Given the description of an element on the screen output the (x, y) to click on. 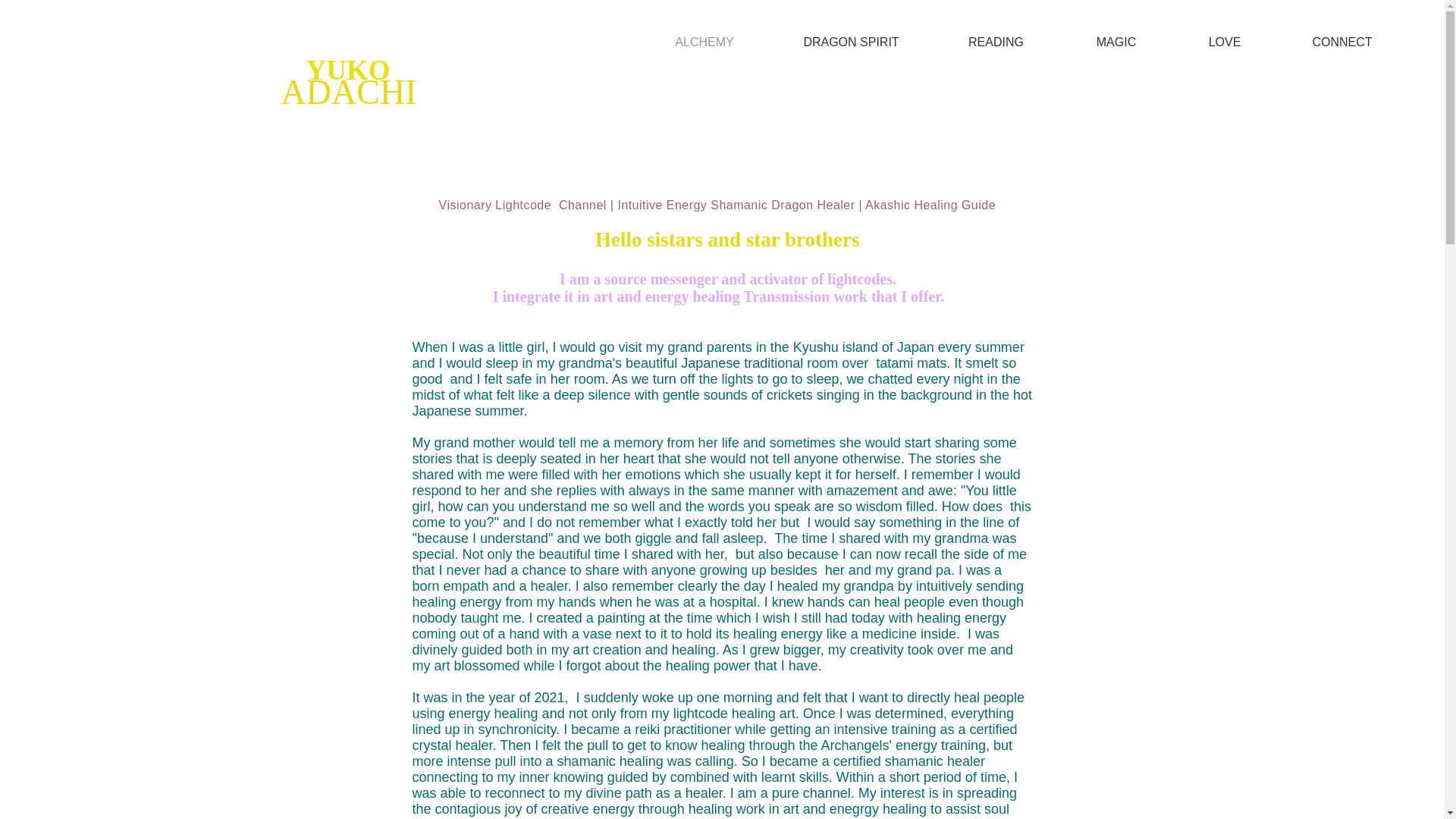
ADACHI (348, 91)
READING (996, 42)
ALCHEMY (704, 42)
DRAGON SPIRIT (851, 42)
